Given the description of an element on the screen output the (x, y) to click on. 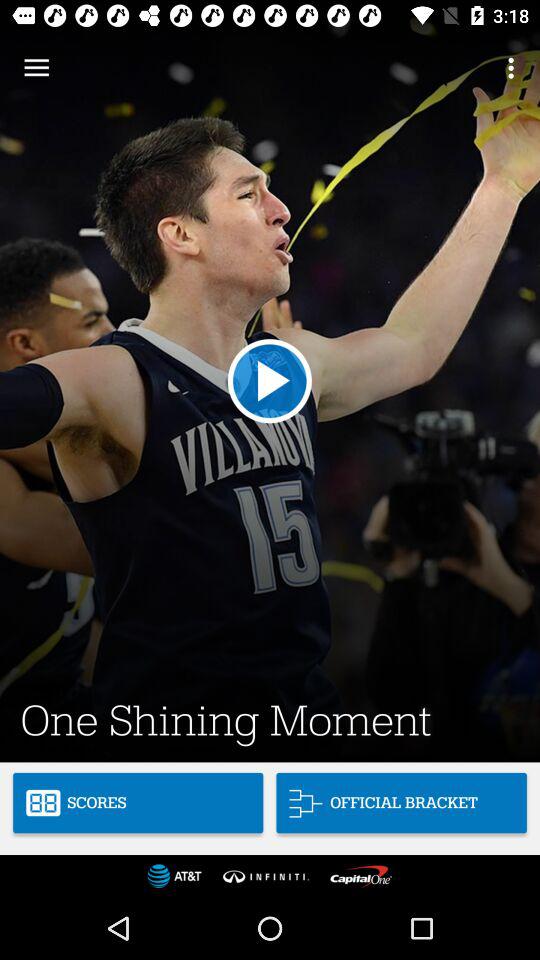
choose item at the top left corner (36, 68)
